Given the description of an element on the screen output the (x, y) to click on. 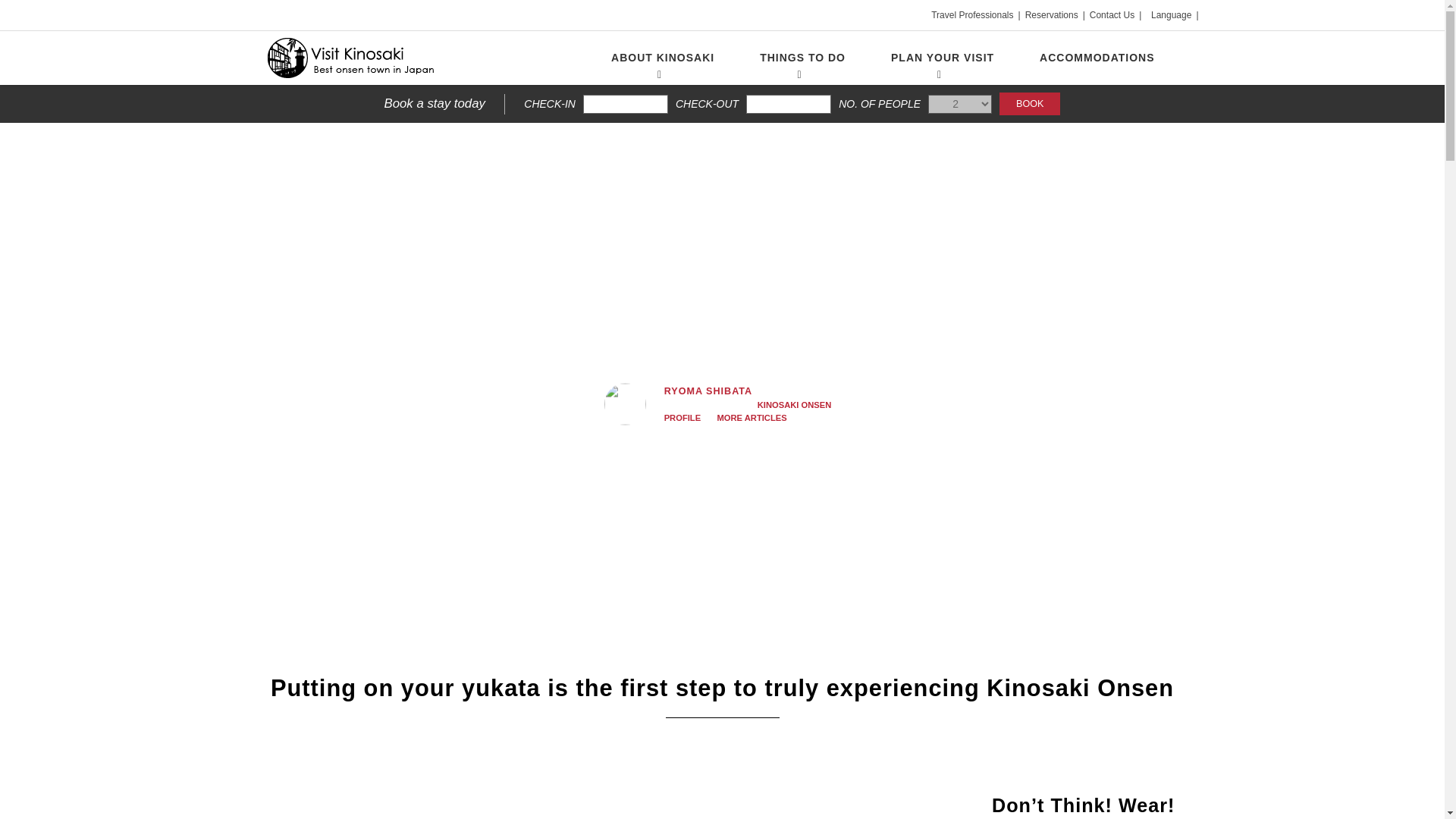
BOOK (1028, 103)
Travel Professionals (971, 15)
Reservations (1051, 15)
THINGS TO DO (801, 58)
Contact Us (1111, 15)
BOOK (1028, 103)
ABOUT KINOSAKI (662, 58)
